Given the description of an element on the screen output the (x, y) to click on. 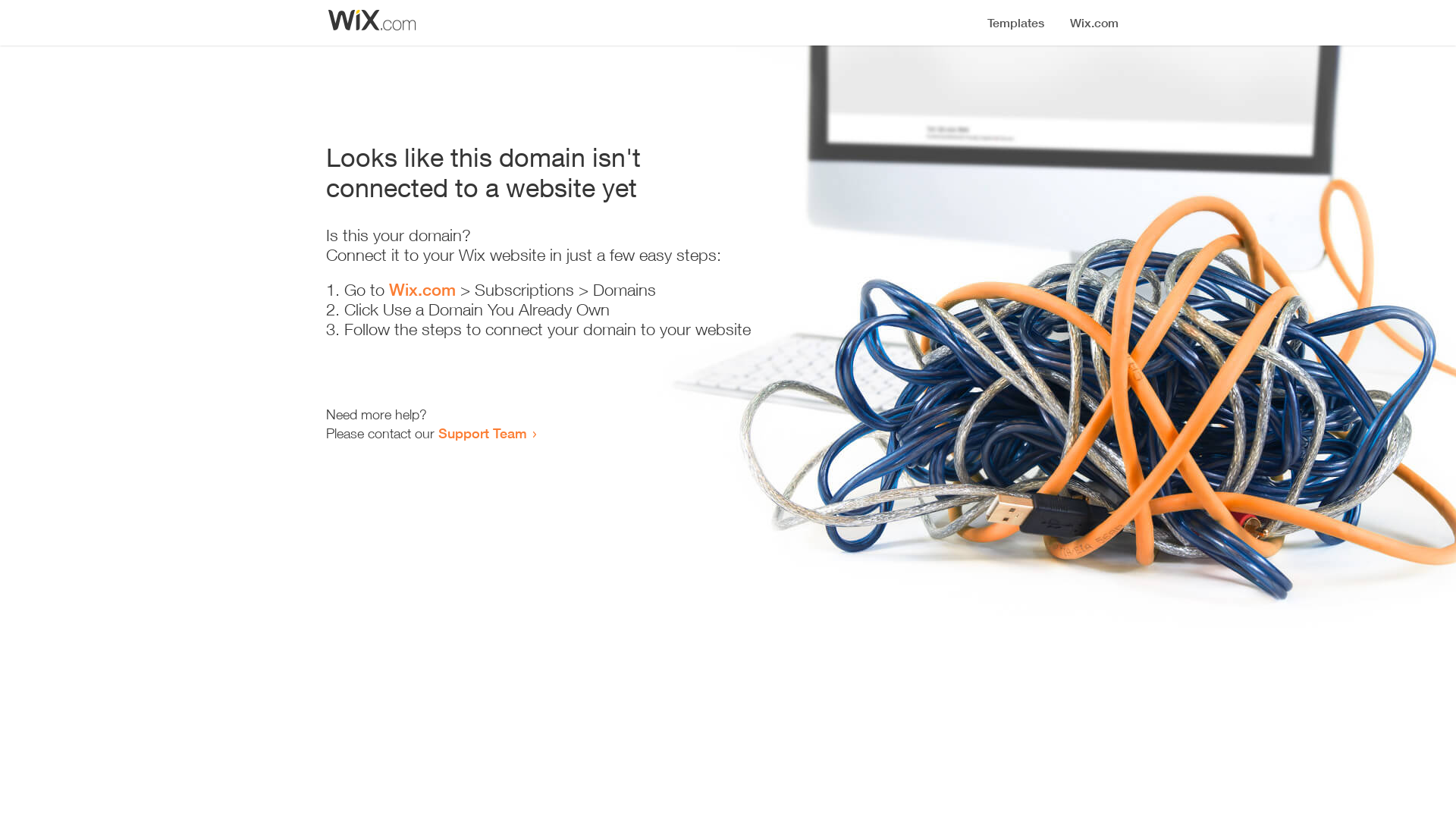
Wix.com Element type: text (422, 289)
Support Team Element type: text (482, 432)
